Given the description of an element on the screen output the (x, y) to click on. 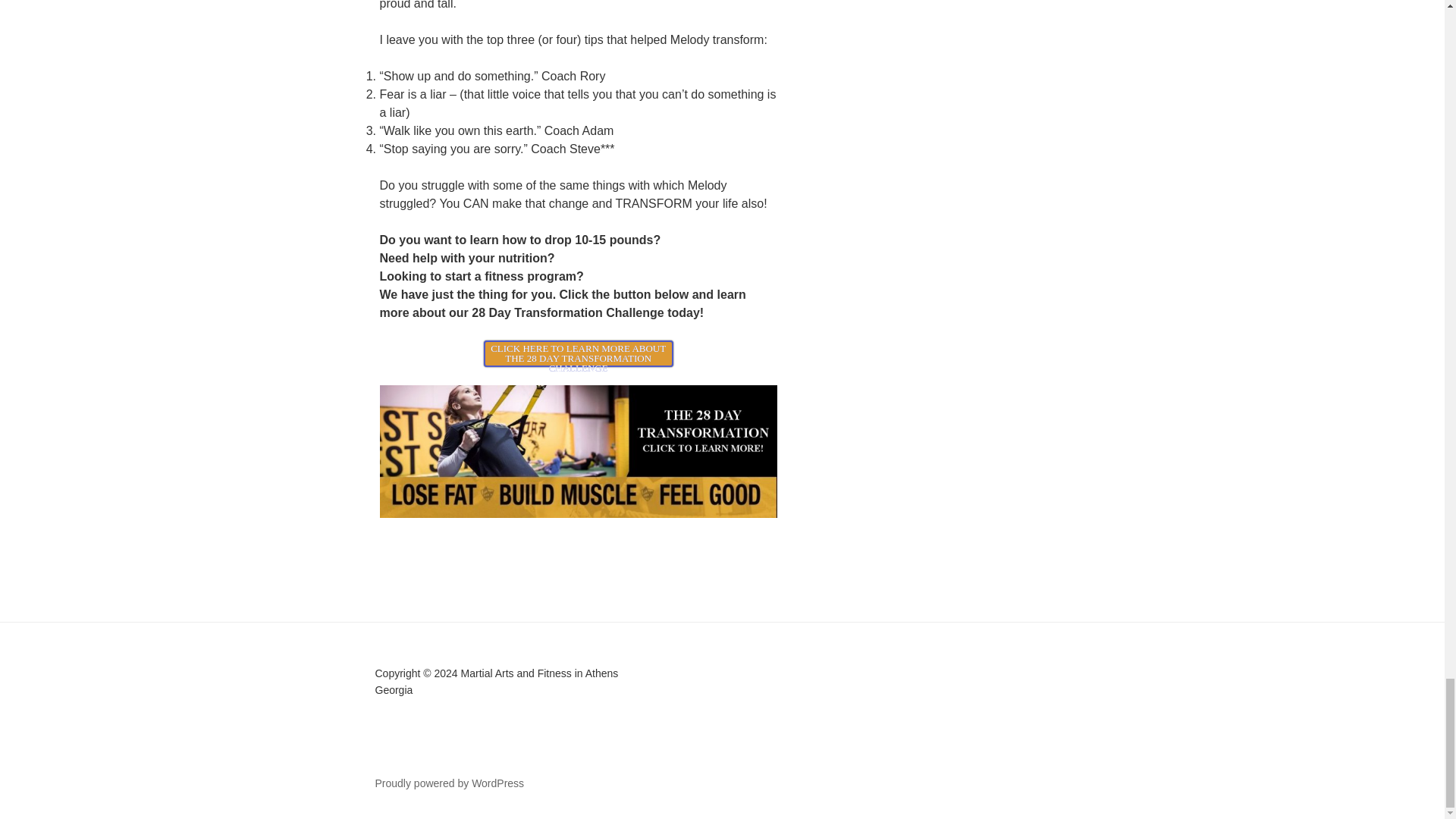
Proudly powered by WordPress (449, 783)
